Given the description of an element on the screen output the (x, y) to click on. 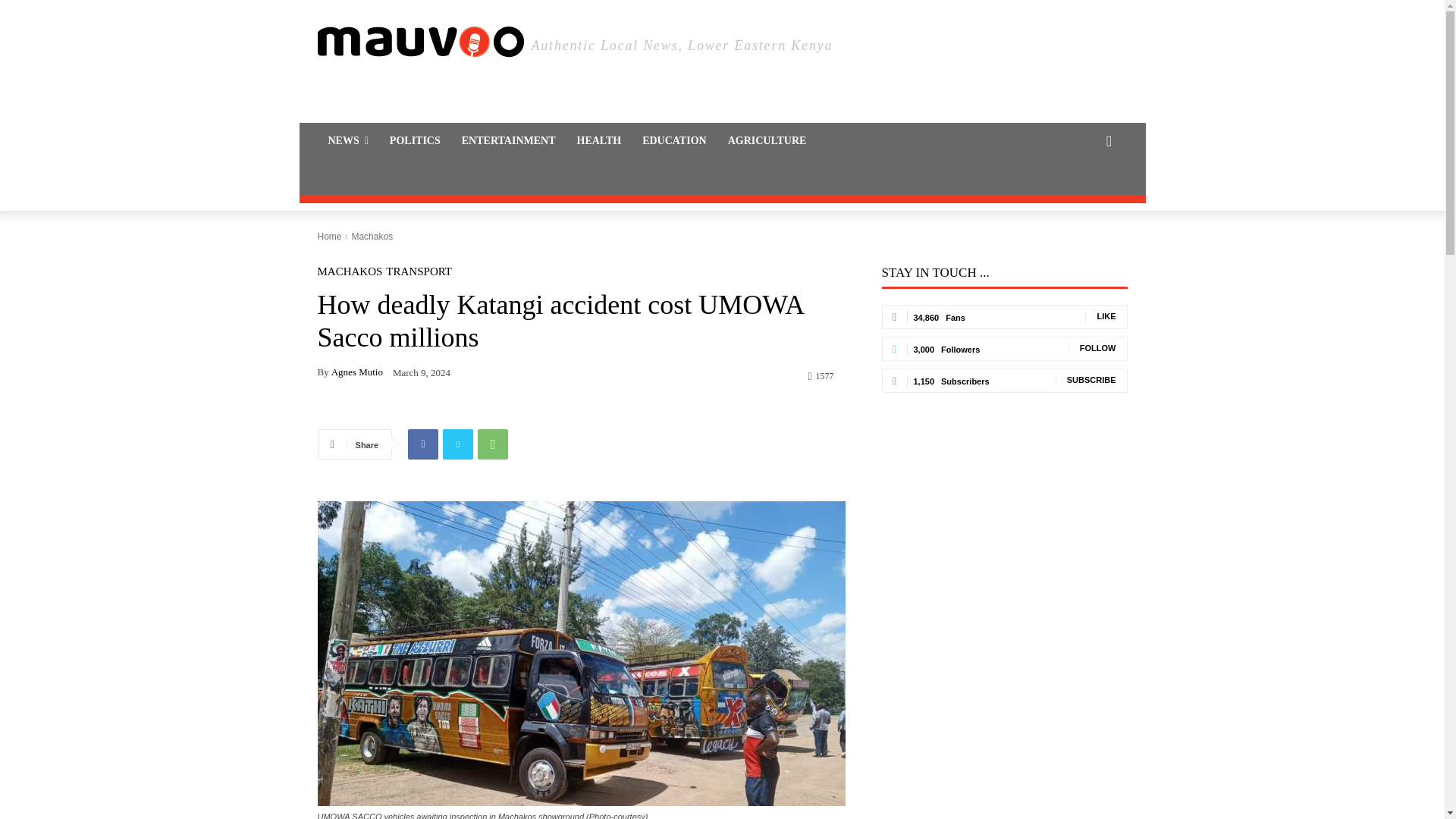
NEWS (347, 140)
View all posts in Machakos (371, 235)
WhatsApp (492, 444)
POLITICS (414, 140)
Authentic Local News, Lower Eastern Kenya (721, 42)
Mauvoo - Authentic Local News from Lower Eastern Kenya (419, 42)
AGRICULTURE (766, 140)
EDUCATION (674, 140)
Twitter (457, 444)
ENTERTAINMENT (508, 140)
Facebook (422, 444)
Home (328, 235)
HEALTH (598, 140)
